Given the description of an element on the screen output the (x, y) to click on. 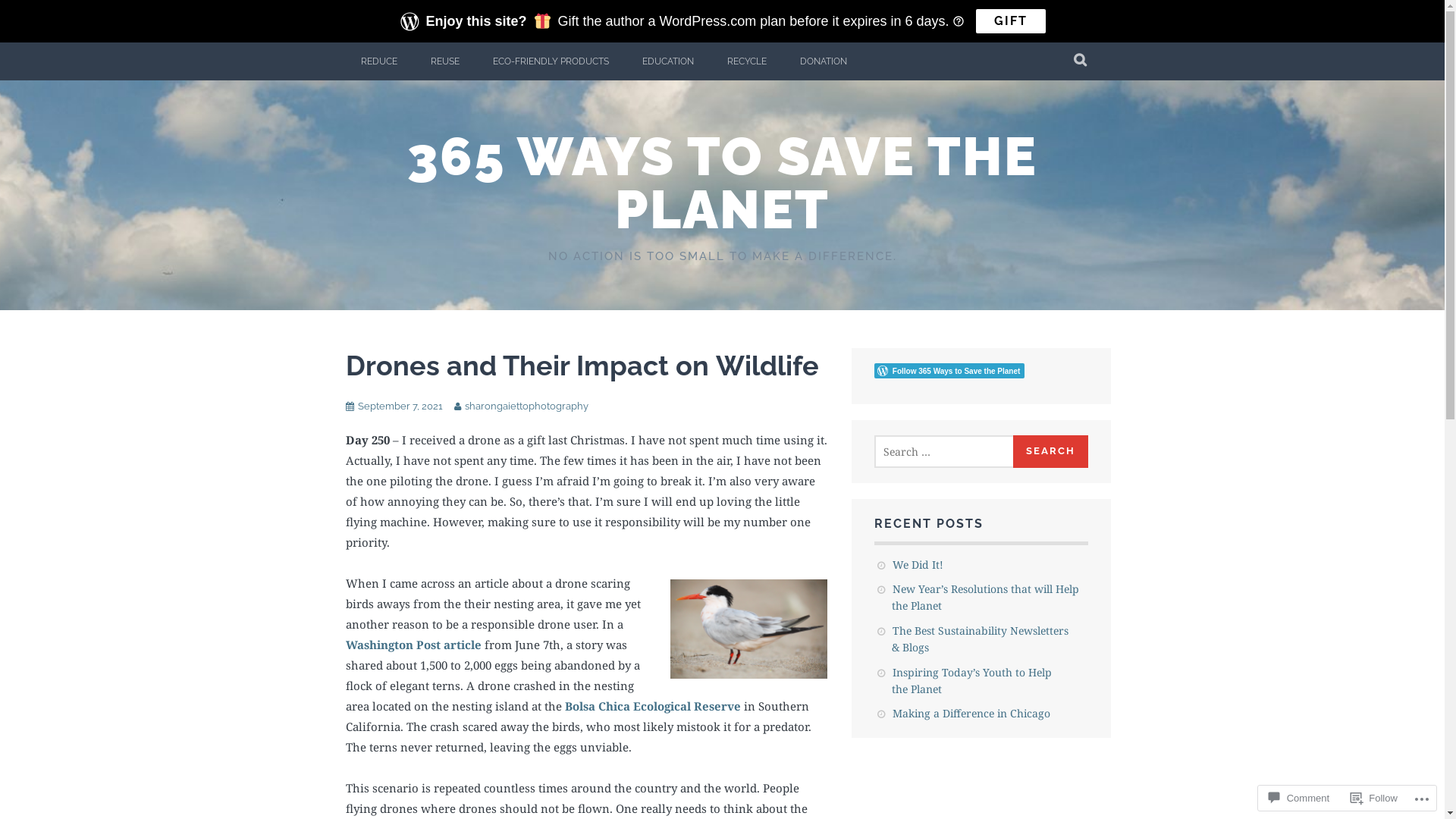
The Best Sustainability Newsletters & Blogs Element type: text (979, 638)
sharongaiettophotography Element type: text (525, 405)
365 WAYS TO SAVE THE PLANET Element type: text (722, 182)
We Did It! Element type: text (917, 564)
REDUCE Element type: text (378, 61)
Comment Element type: text (1298, 797)
September 7, 2021 Element type: text (399, 405)
Drones and Their Impact on Wildlife Element type: text (582, 365)
Making a Difference in Chicago Element type: text (971, 713)
Follow Element type: text (1373, 797)
GIFT Element type: text (1010, 21)
DONATION Element type: text (822, 61)
Bolsa Chica Ecological Reserve Element type: text (652, 705)
Search Element type: text (1050, 451)
REUSE Element type: text (444, 61)
Follow Button Element type: hover (980, 370)
EDUCATION Element type: text (667, 61)
Washington Post article Element type: text (413, 644)
ECO-FRIENDLY PRODUCTS Element type: text (550, 61)
RECYCLE Element type: text (746, 61)
